Given the description of an element on the screen output the (x, y) to click on. 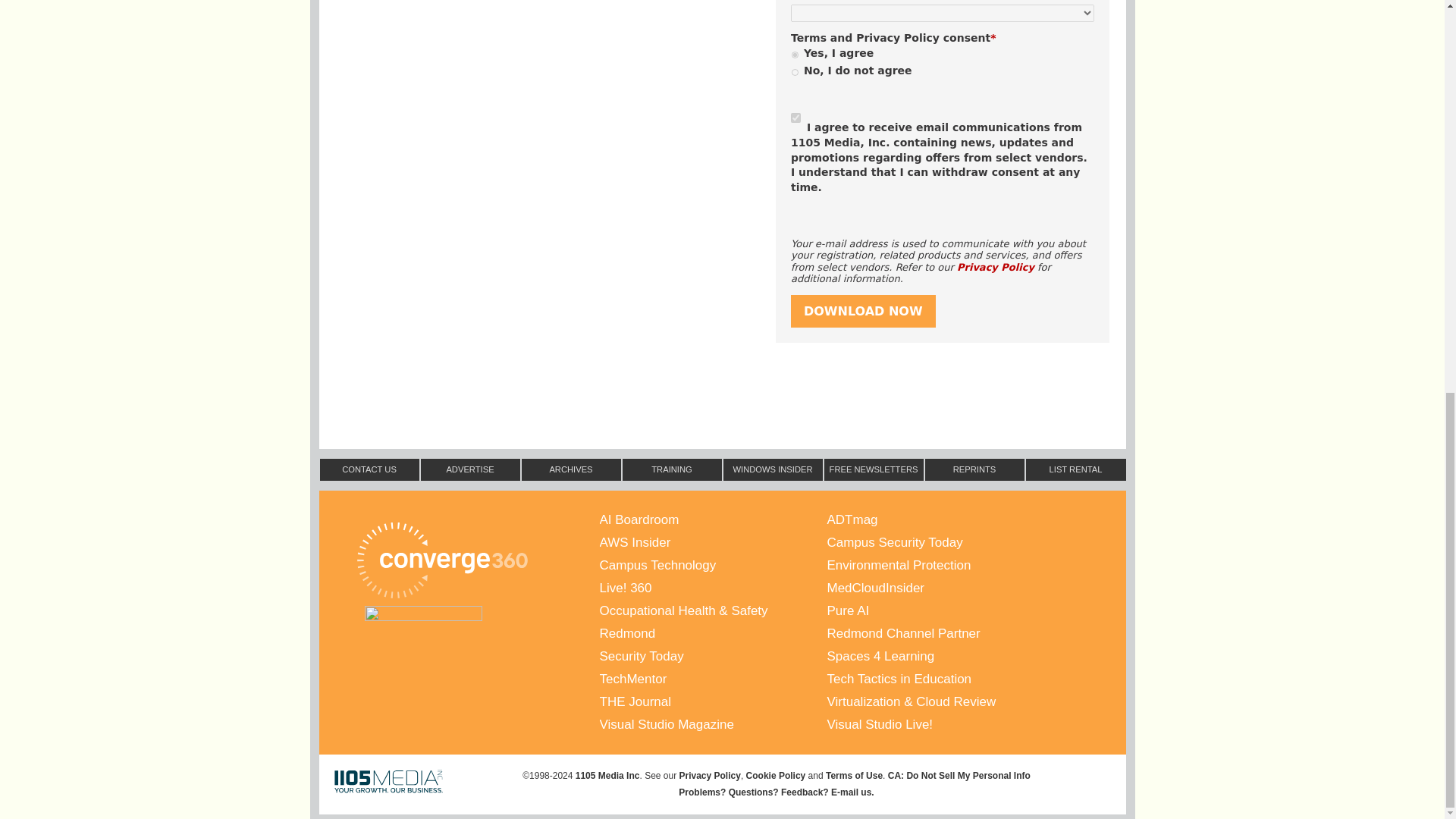
14812 (794, 54)
REPRINTS (974, 468)
Terms (808, 37)
FREE NEWSLETTERS (874, 468)
MedCloudInsider (940, 588)
Privacy Policy (994, 266)
ARCHIVES (570, 468)
TRAINING (671, 468)
Download Now (863, 310)
14813 (794, 71)
WINDOWS INSIDER (772, 468)
Live! 360 (712, 588)
Environmental Protection (940, 565)
AI Boardroom (712, 519)
Campus Technology (712, 565)
